Given the description of an element on the screen output the (x, y) to click on. 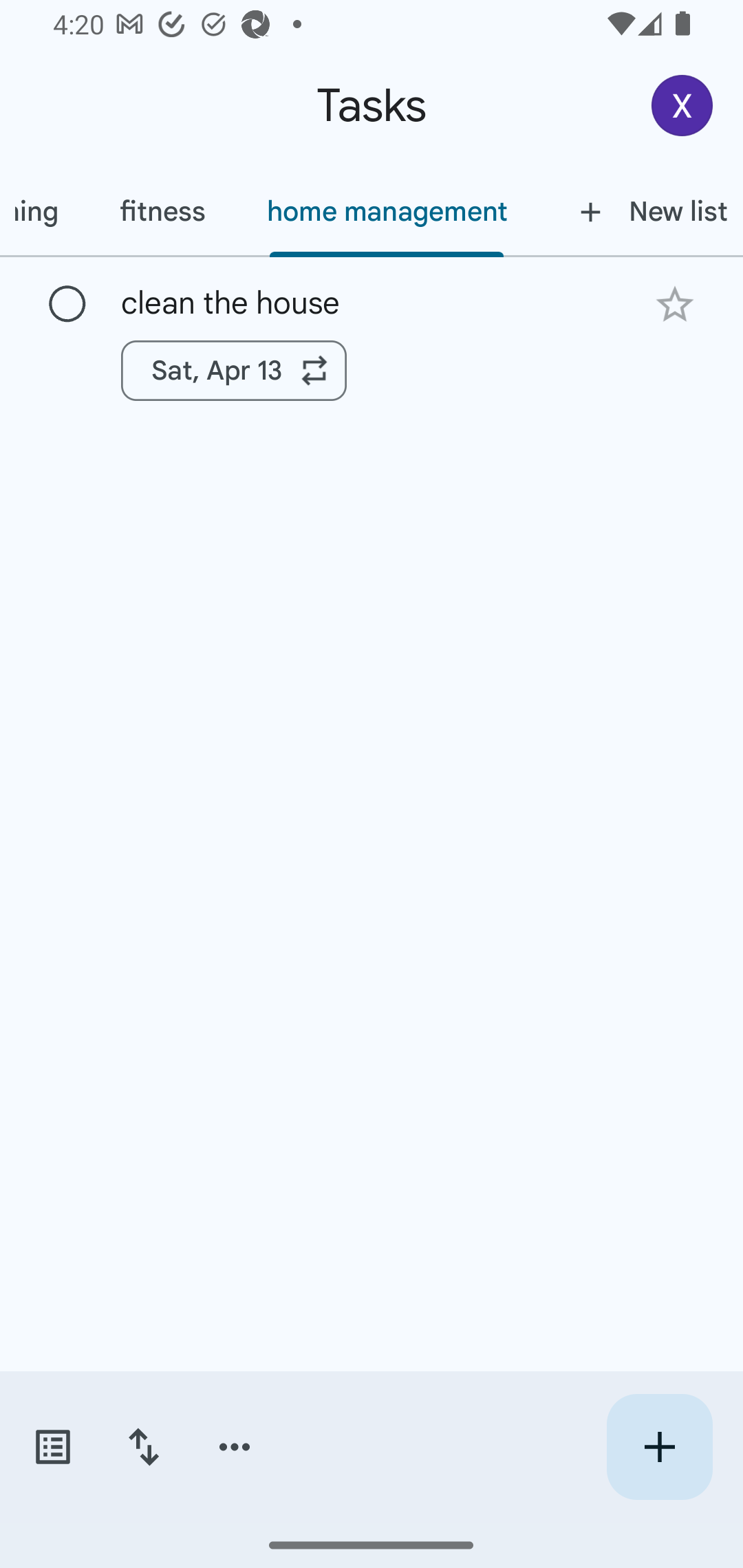
holiday planning (44, 211)
fitness (162, 211)
New list (640, 211)
Add star (674, 303)
Mark as complete (67, 304)
Sat, Apr 13 (233, 369)
Switch task lists (52, 1447)
Create new task (659, 1446)
Change sort order (143, 1446)
More options (234, 1446)
